Given the description of an element on the screen output the (x, y) to click on. 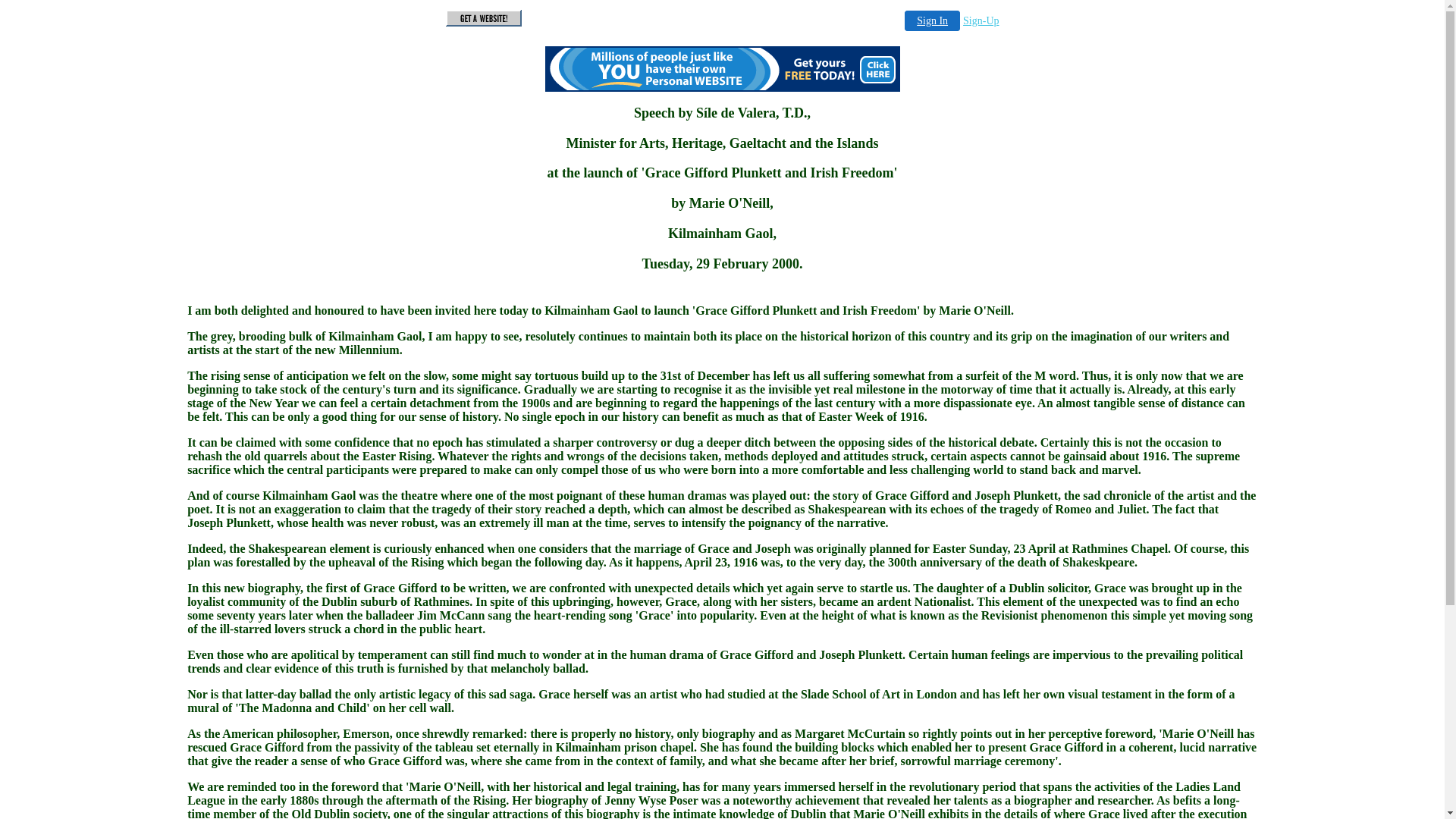
Sign In Element type: text (932, 20)
Sign-Up Element type: text (980, 20)
